Given the description of an element on the screen output the (x, y) to click on. 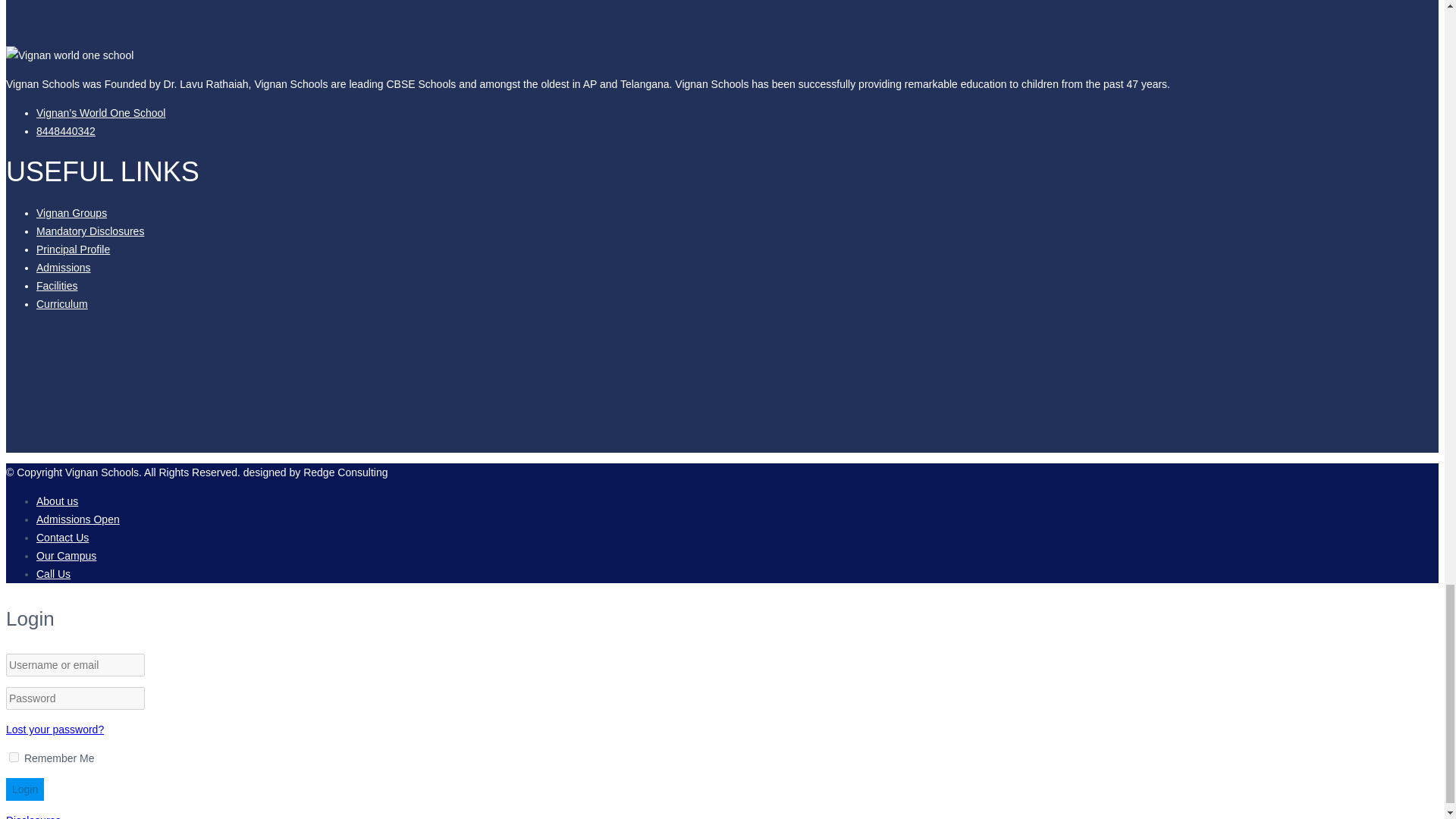
Vignan Groups (71, 213)
Principal Profile (73, 249)
Curriculum (61, 304)
forever (13, 757)
Lost Password (54, 729)
Facilities (56, 285)
Mandatory Disclosures (90, 231)
Admissions (63, 267)
8448440342 (66, 131)
About us (57, 500)
